Given the description of an element on the screen output the (x, y) to click on. 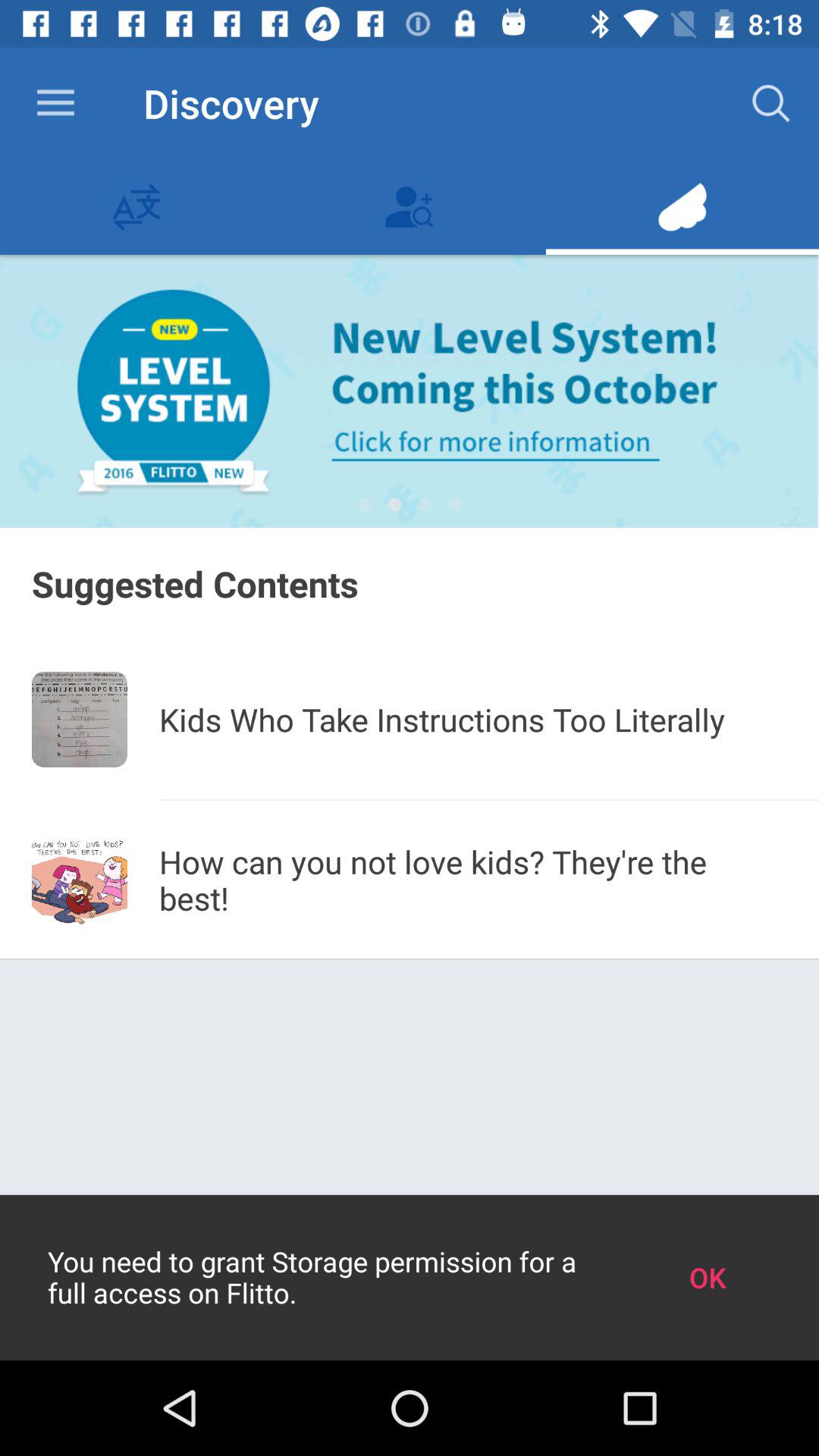
flip until the ok icon (707, 1277)
